Given the description of an element on the screen output the (x, y) to click on. 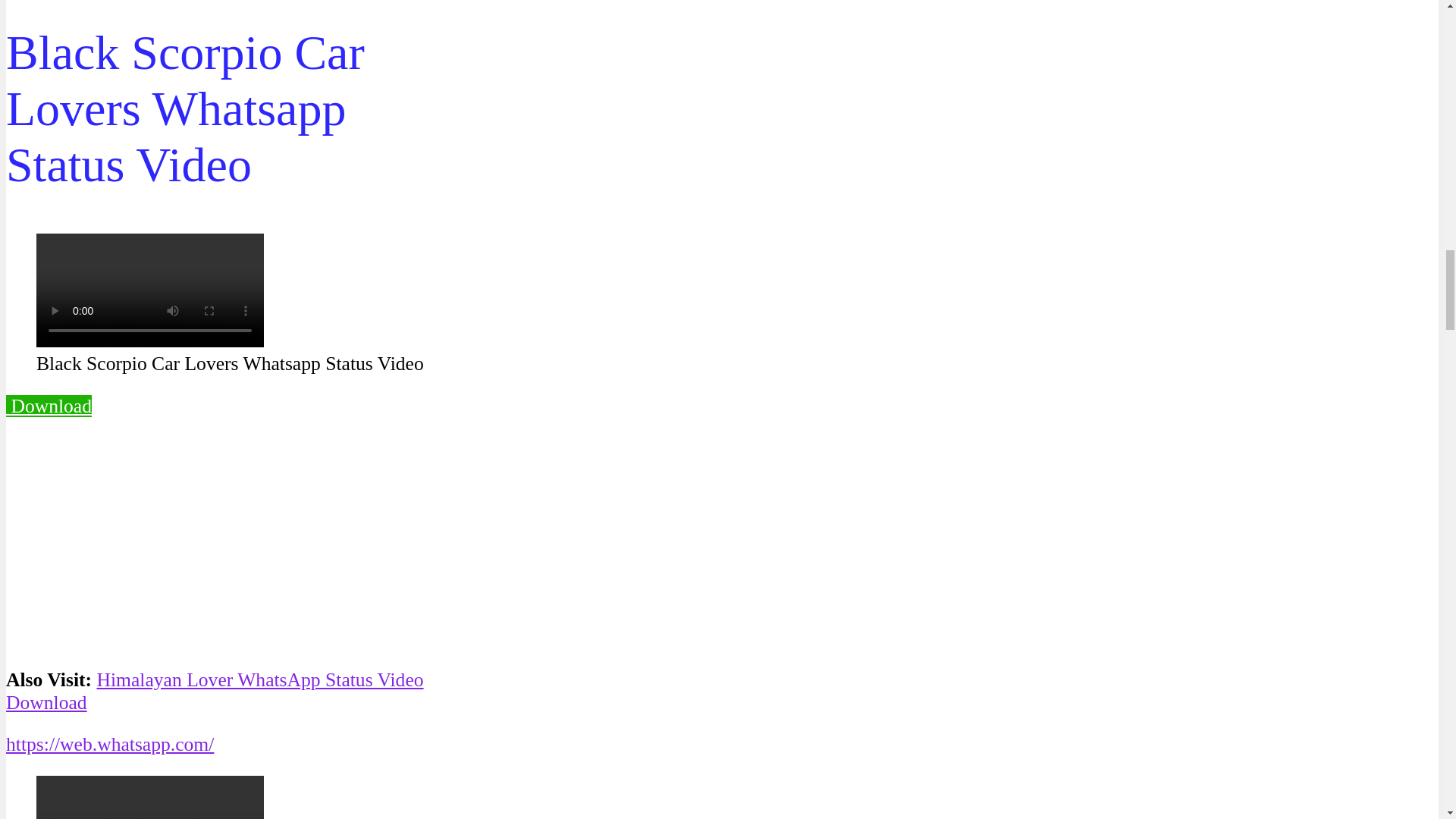
Himalayan Lover WhatsApp Status Video Download (214, 691)
 Download (48, 405)
